Given the description of an element on the screen output the (x, y) to click on. 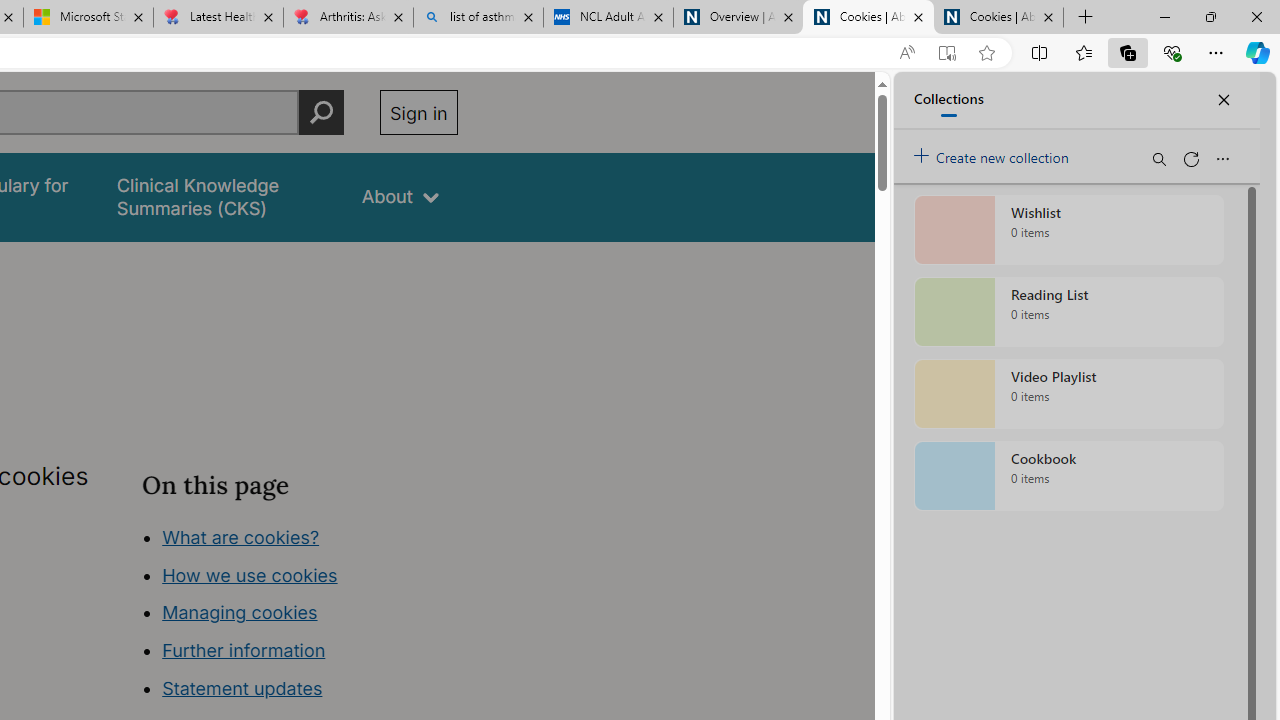
Read aloud this page (Ctrl+Shift+U) (906, 53)
Arthritis: Ask Health Professionals (348, 17)
About (400, 196)
Microsoft Start (88, 17)
Close (1256, 16)
Statement updates (242, 688)
Copilot (Ctrl+Shift+.) (1258, 52)
Managing cookies (239, 612)
Settings and more (Alt+F) (1215, 52)
About (400, 196)
Restore (1210, 16)
Perform search (321, 112)
NCL Adult Asthma Inhaler Choice Guideline (608, 17)
